Given the description of an element on the screen output the (x, y) to click on. 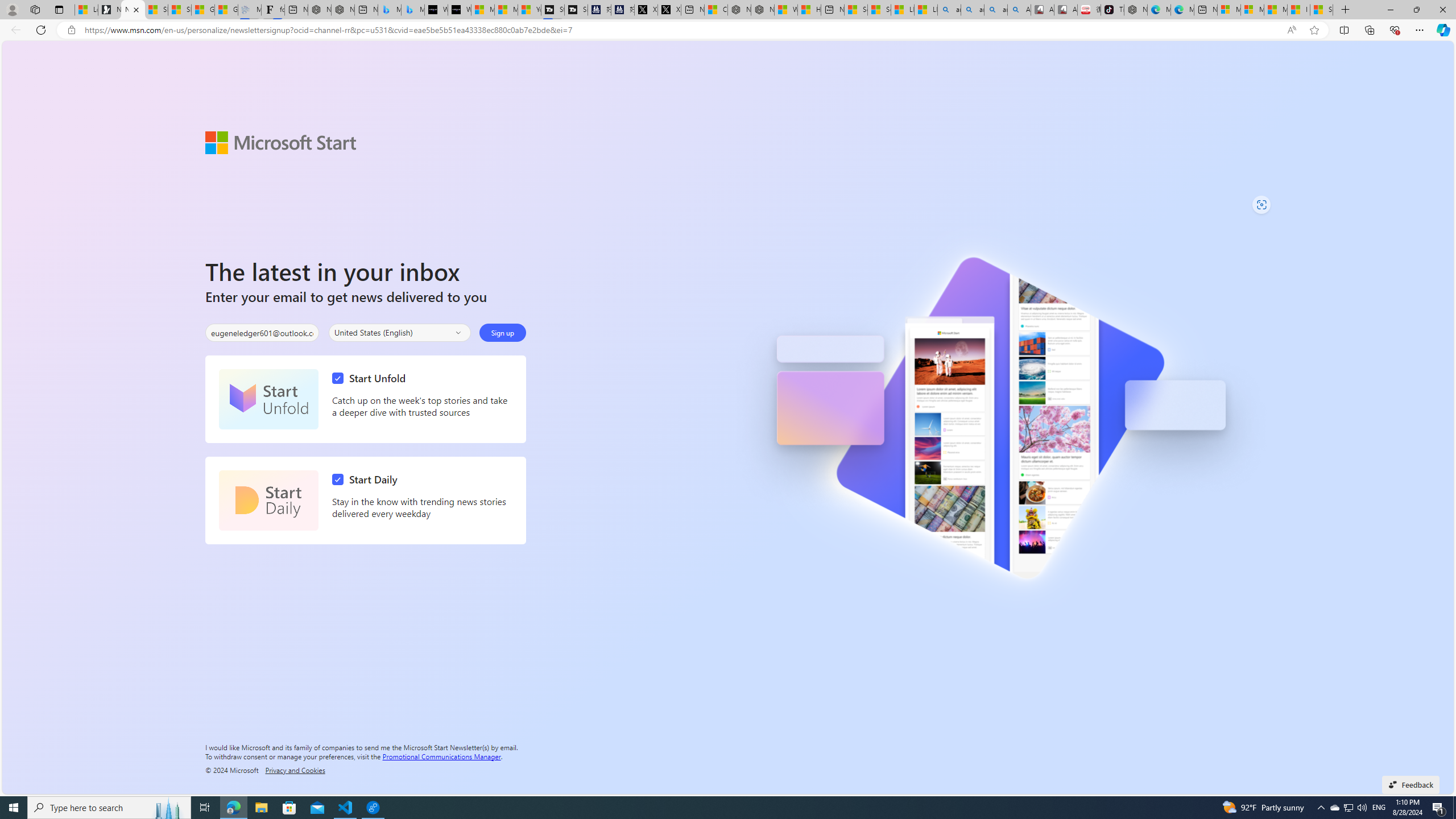
Shanghai, China weather forecast | Microsoft Weather (179, 9)
Wildlife - MSN (786, 9)
Nordace - Best Sellers (1135, 9)
What's the best AI voice generator? - voice.ai (459, 9)
Microsoft account | Privacy (1252, 9)
Microsoft Start (280, 142)
Select your country (398, 332)
Microsoft Bing Travel - Stays in Bangkok, Bangkok, Thailand (389, 9)
